Given the description of an element on the screen output the (x, y) to click on. 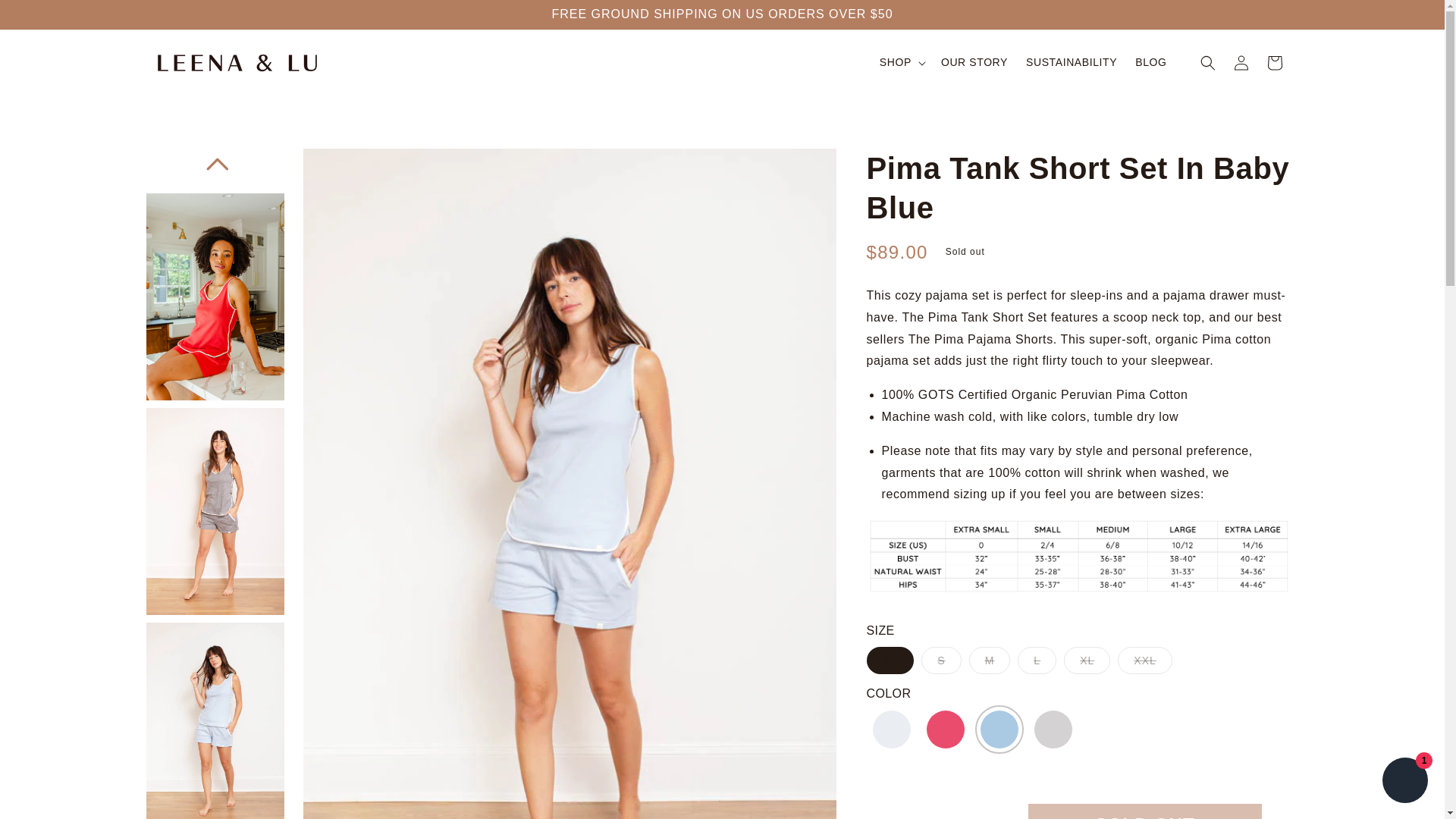
BLOG (1149, 61)
OUR STORY (973, 61)
Red (944, 729)
SUSTAINABILITY (1070, 61)
Shopify online store chat (1404, 781)
Baby blue (998, 729)
Shopping Bag (1273, 61)
